Given the description of an element on the screen output the (x, y) to click on. 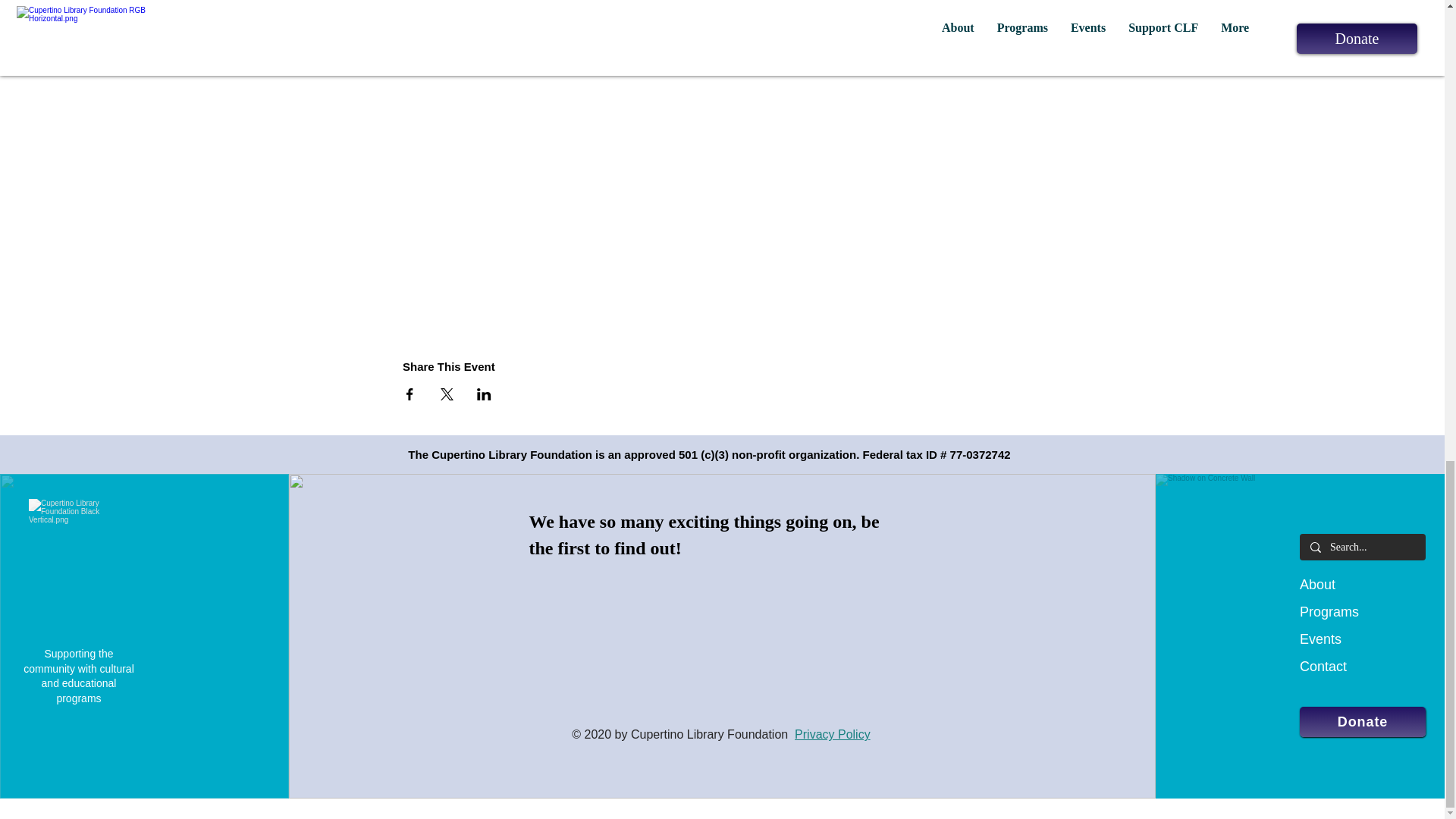
Events (1320, 639)
Privacy Policy (832, 734)
Donate (1362, 721)
About (1317, 584)
Contact (1323, 666)
Programs (1329, 611)
